Given the description of an element on the screen output the (x, y) to click on. 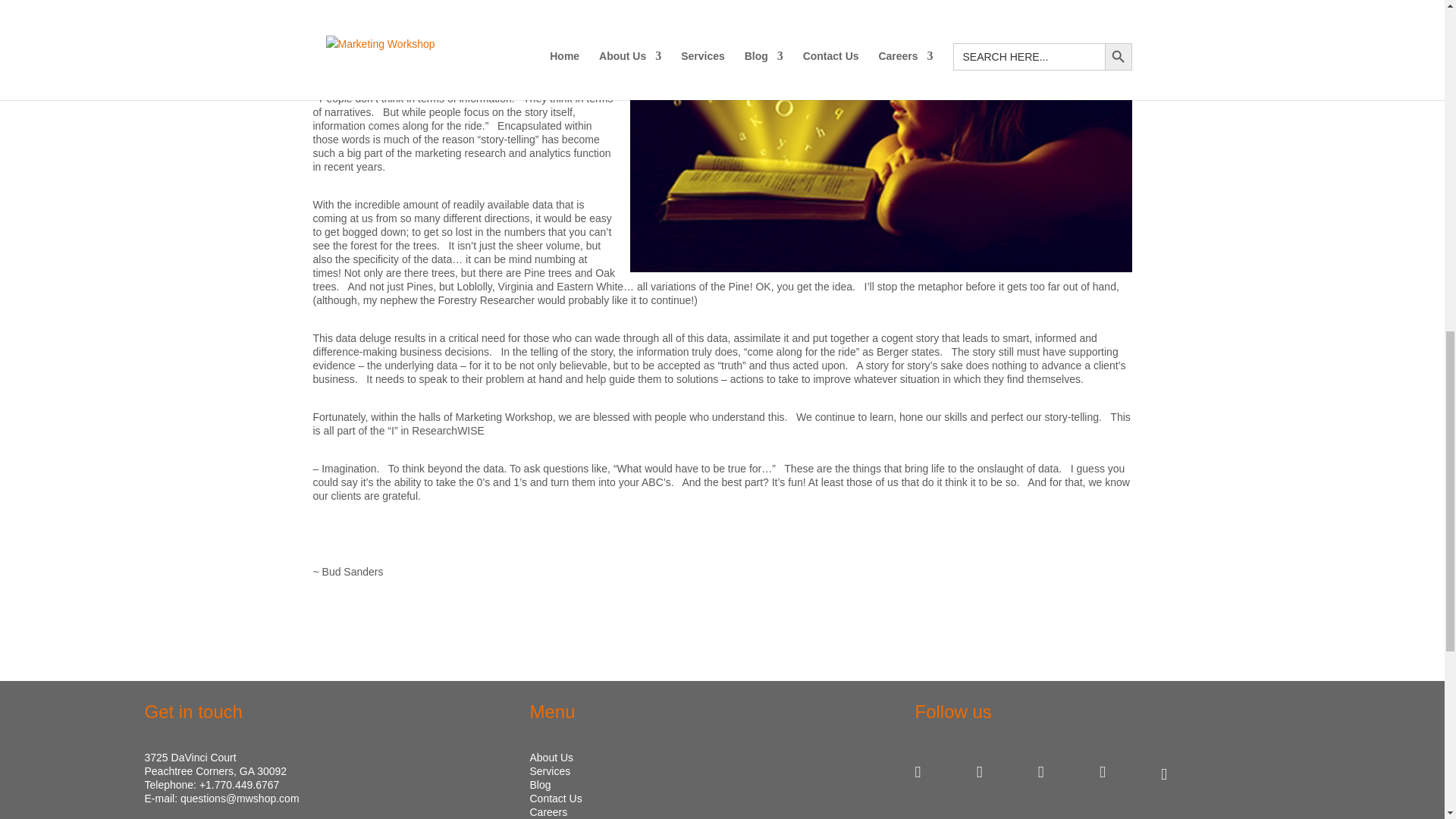
Careers (548, 811)
Blog (539, 784)
Contagious: Why Things Catch On (396, 84)
Services (549, 770)
About Us (551, 757)
Contact Us (554, 798)
